Given the description of an element on the screen output the (x, y) to click on. 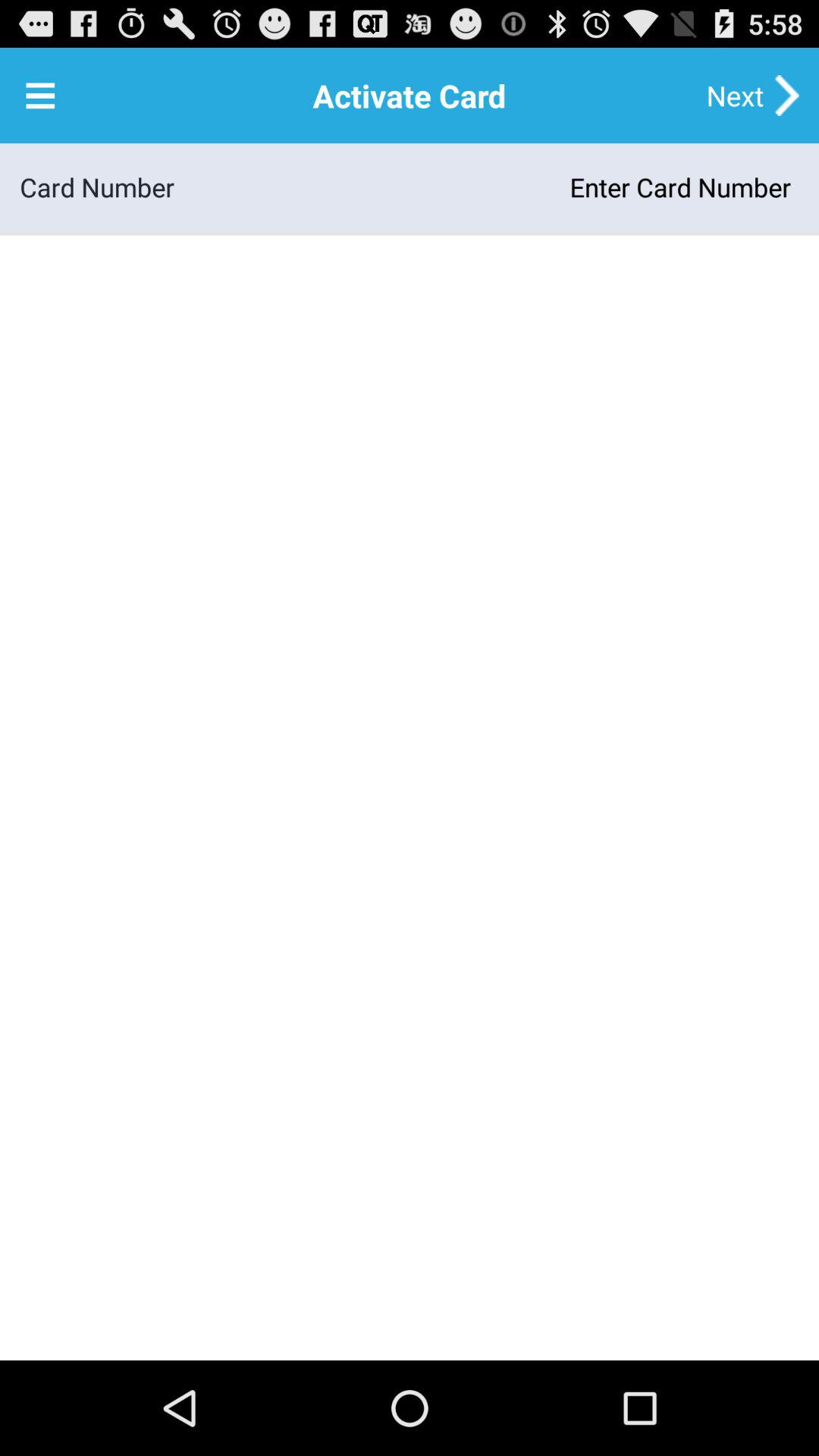
tap app to the left of the activate card icon (39, 95)
